Given the description of an element on the screen output the (x, y) to click on. 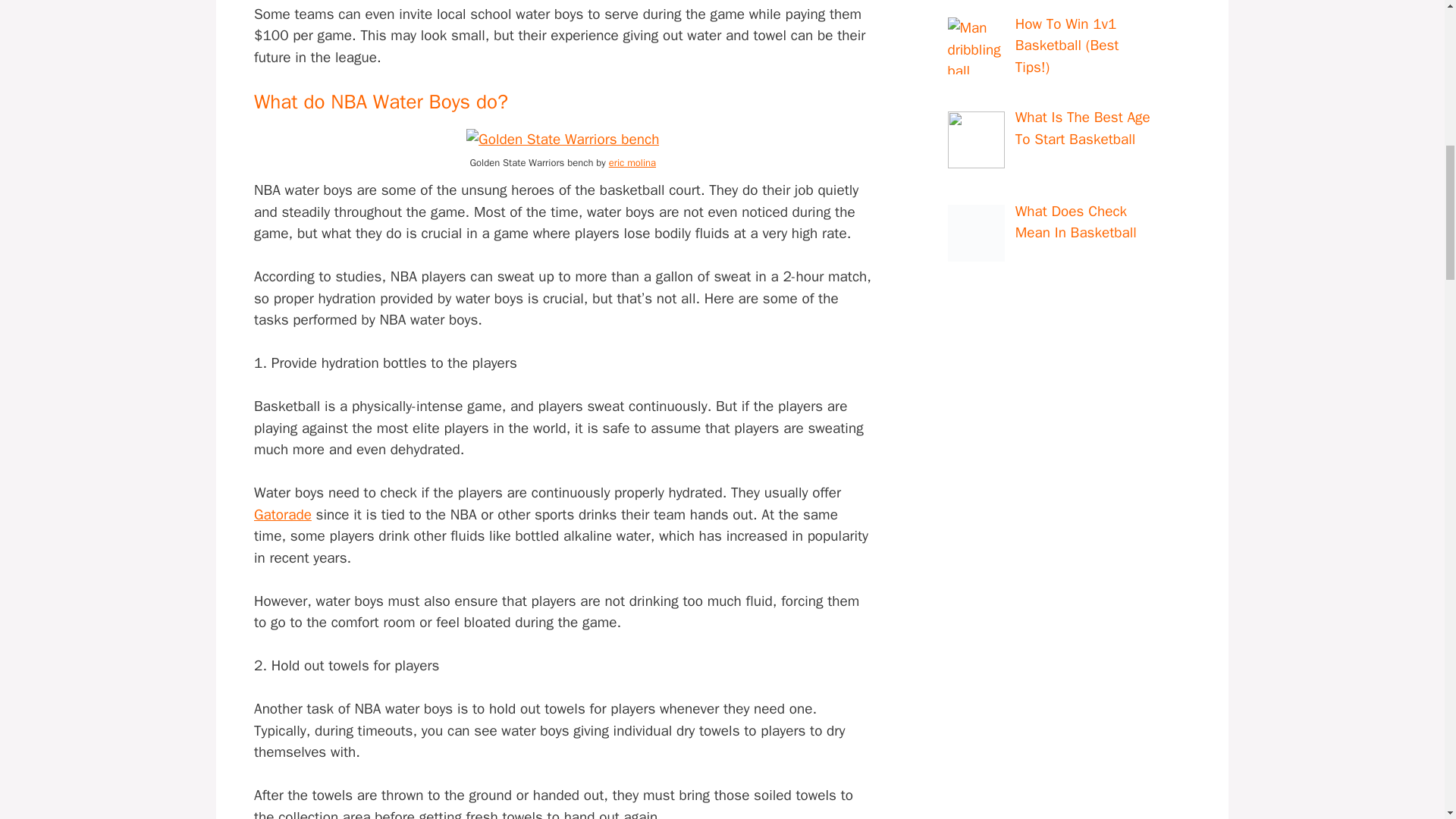
Gatorade (282, 515)
What Is The Best Age To Start Basketball (1117, 128)
What Does Check Mean In Basketball (1117, 223)
Scroll back to top (1406, 720)
eric molina (632, 162)
